Given the description of an element on the screen output the (x, y) to click on. 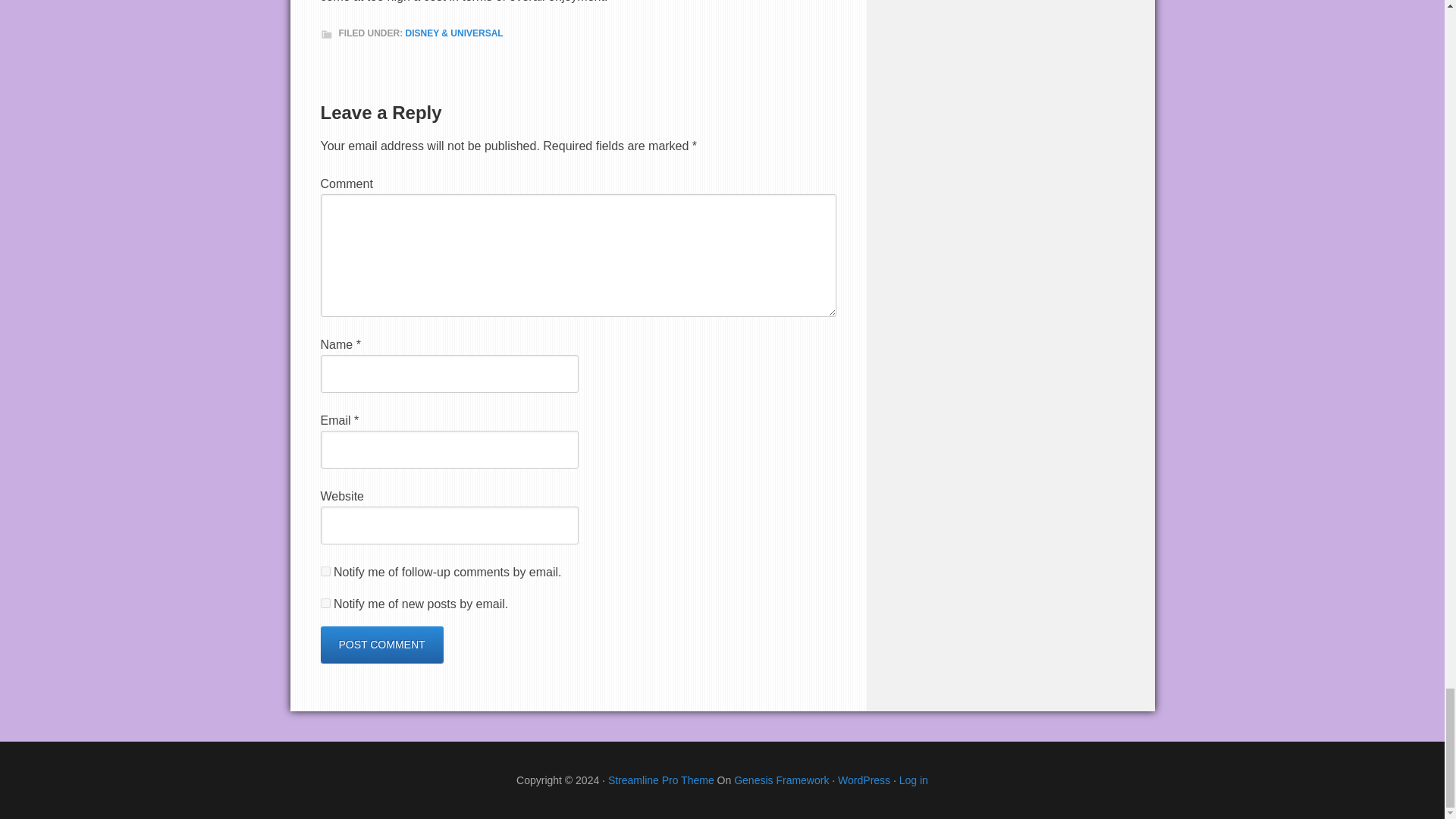
subscribe (325, 603)
subscribe (325, 571)
Post Comment (381, 644)
Post Comment (381, 644)
